Given the description of an element on the screen output the (x, y) to click on. 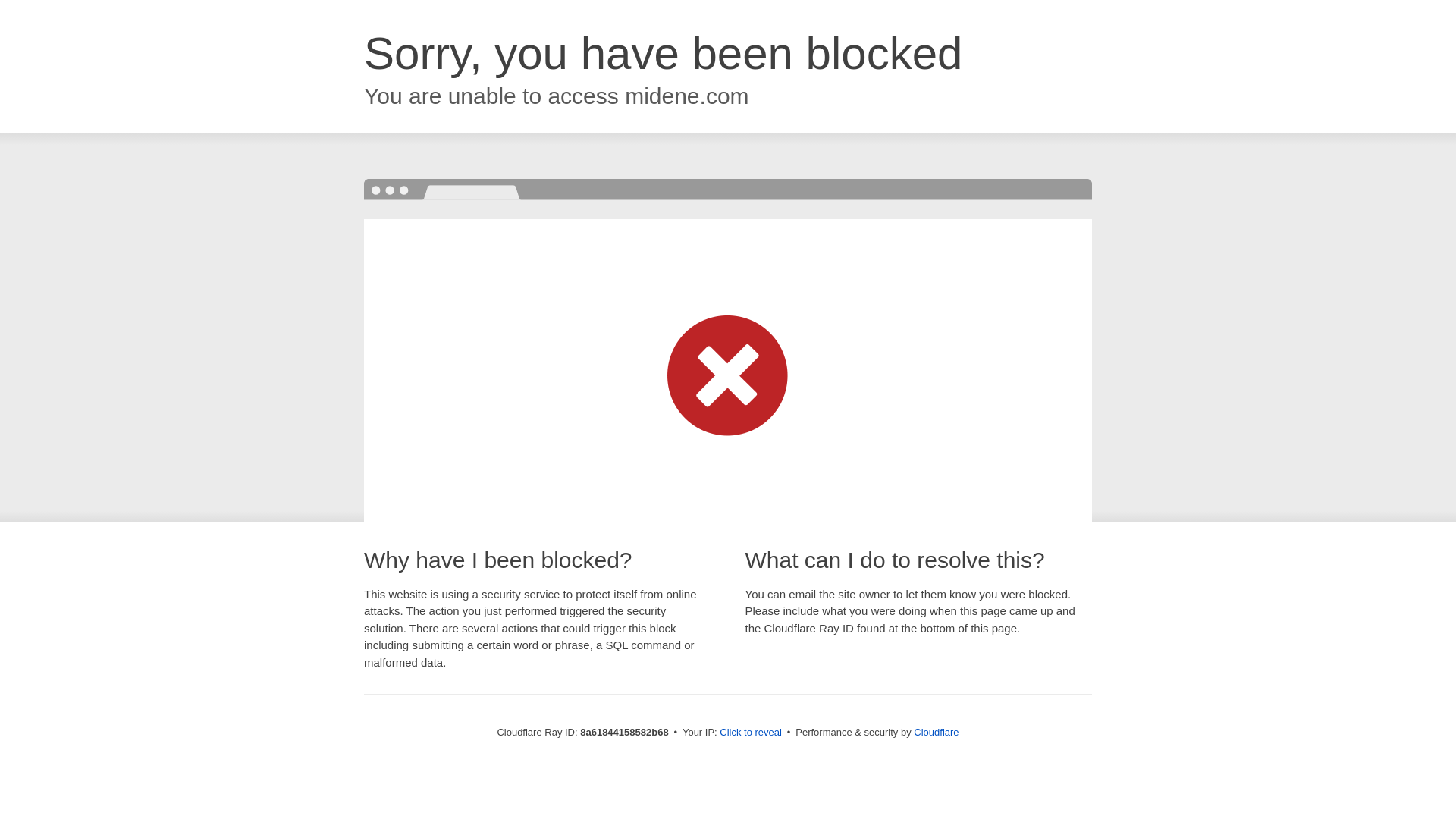
Click to reveal (750, 732)
Cloudflare (936, 731)
